Given the description of an element on the screen output the (x, y) to click on. 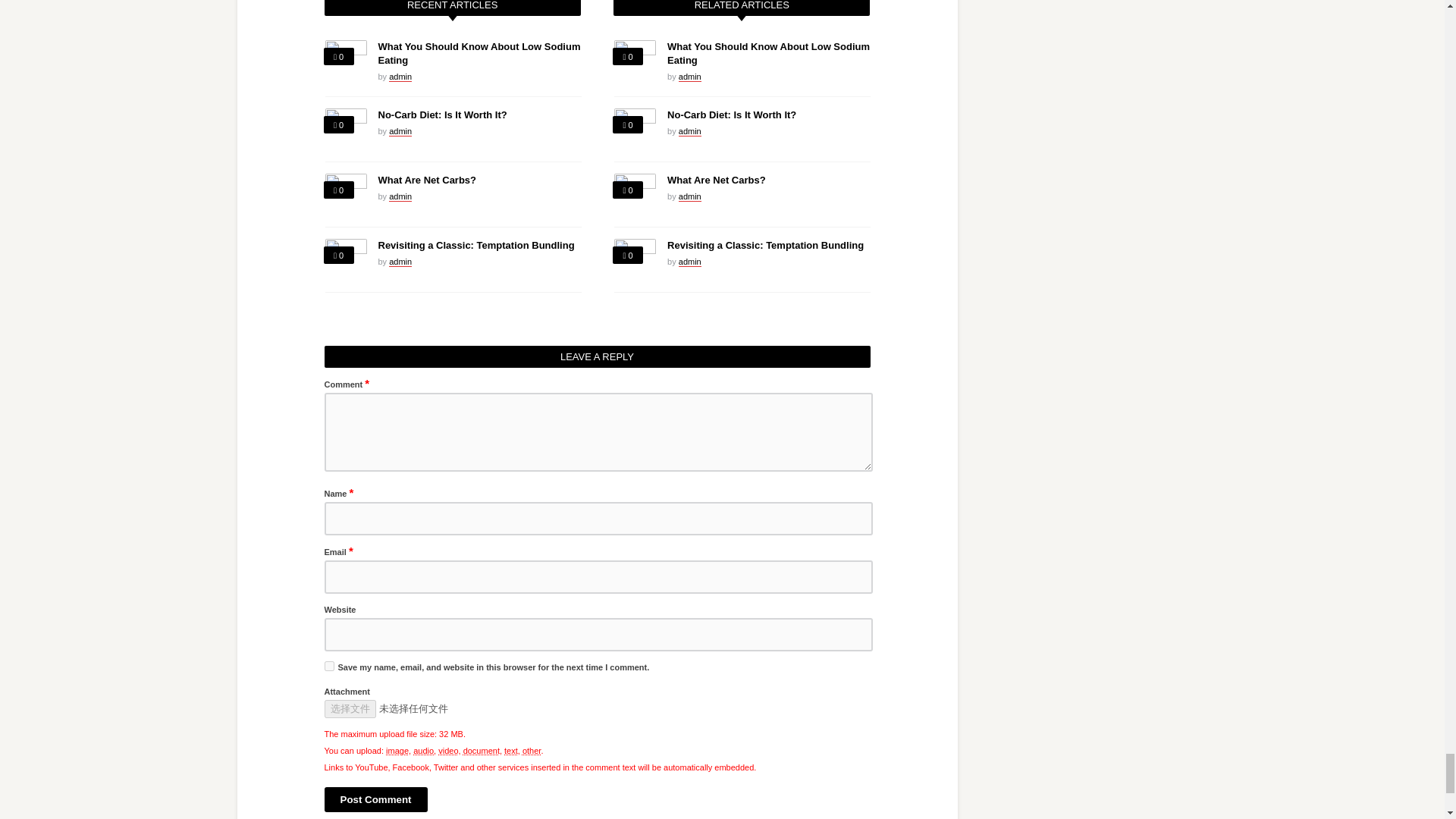
Posts by admin (400, 261)
Posts by admin (400, 196)
Posts by admin (689, 196)
Post Comment (376, 799)
Posts by admin (400, 76)
Posts by admin (400, 131)
Posts by admin (689, 76)
Posts by admin (689, 131)
yes (329, 665)
